Given the description of an element on the screen output the (x, y) to click on. 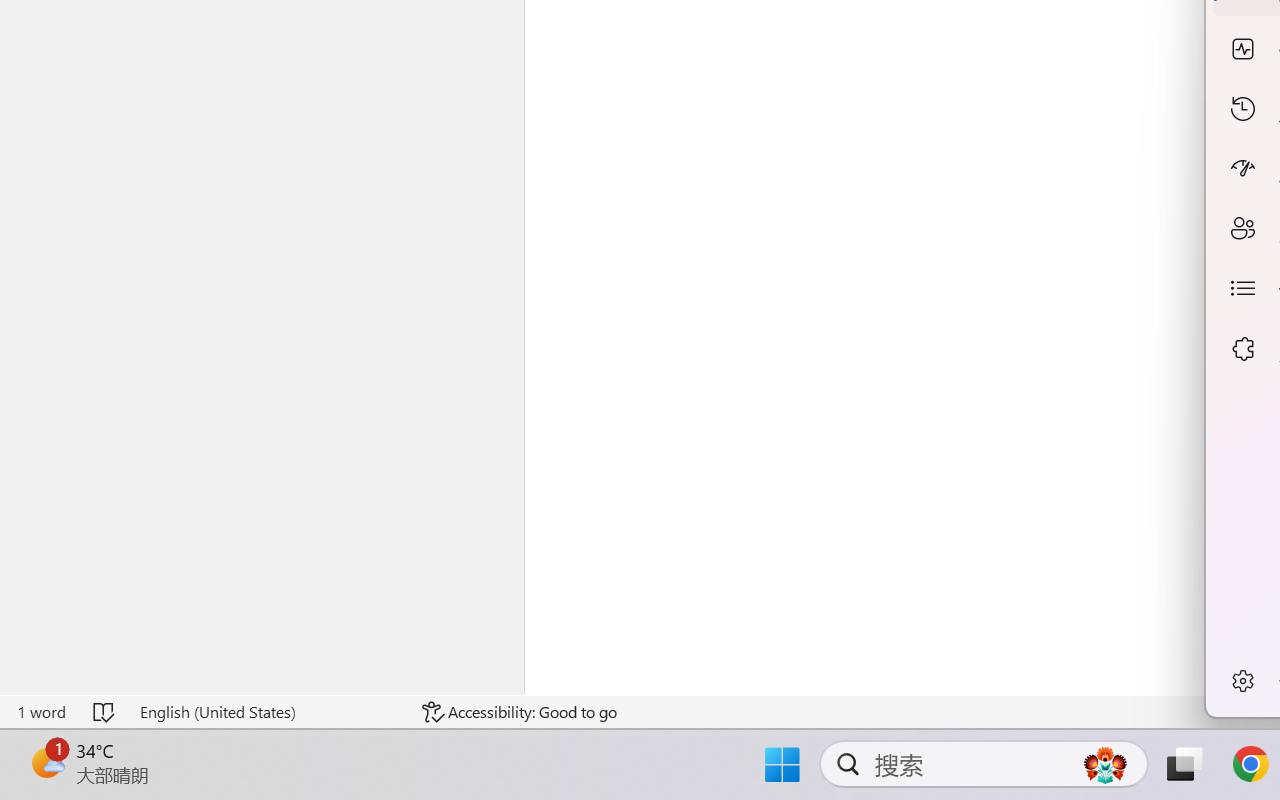
AutomationID: BadgeAnchorLargeTicker (46, 762)
Word Count 1 word (41, 712)
Spelling and Grammar Check No Errors (105, 712)
Language English (United States) (267, 712)
Accessibility Checker Accessibility: Good to go (519, 712)
